Given the description of an element on the screen output the (x, y) to click on. 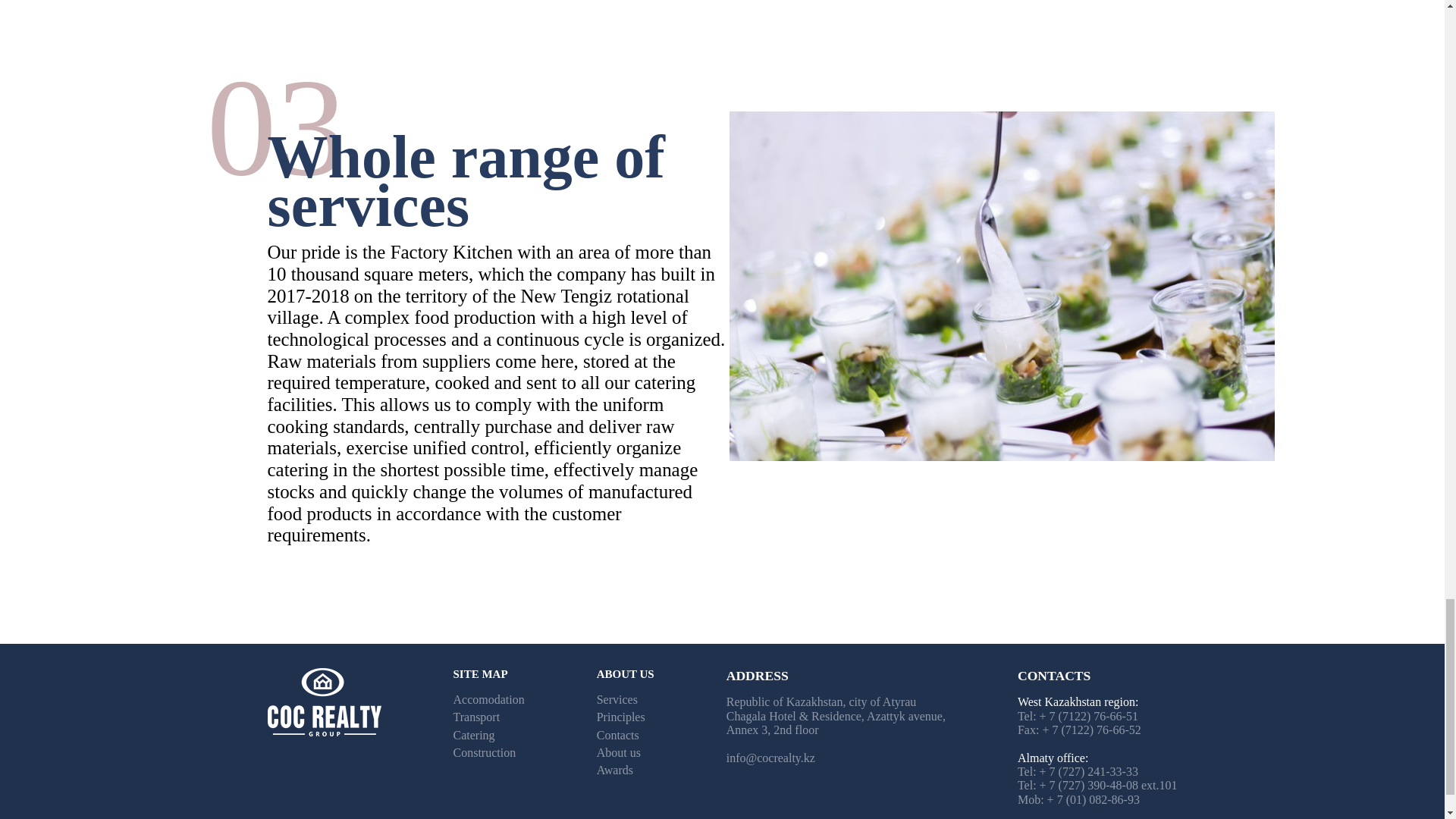
About us (618, 752)
Contacts (617, 735)
Catering (473, 735)
Construction (484, 752)
Accomodation (488, 698)
Accomodation (488, 698)
Transport (476, 716)
Transport (476, 716)
Principles (620, 716)
Contacts (617, 735)
